Given the description of an element on the screen output the (x, y) to click on. 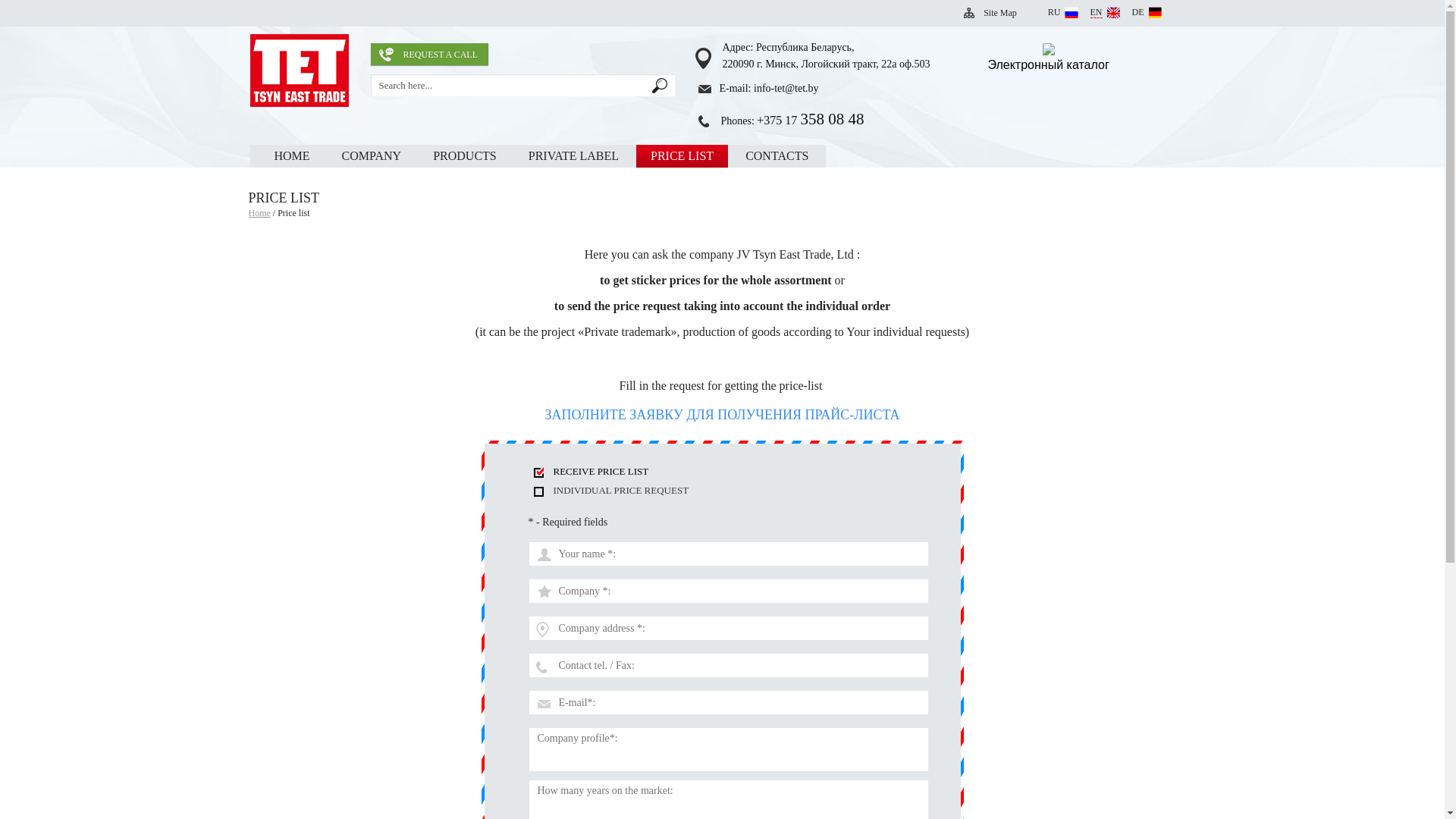
CONTACTS Element type: text (776, 155)
PRIVATE LABEL Element type: text (573, 155)
info-tet@tet.by Element type: text (786, 88)
HOME Element type: text (291, 155)
Site Map Element type: text (999, 12)
DE Element type: text (1146, 12)
Home Element type: text (259, 212)
COMPANY Element type: text (371, 155)
PRICE LIST Element type: text (682, 155)
EN Element type: text (1105, 12)
RU Element type: text (1063, 12)
PRODUCTS Element type: text (464, 155)
Go! Element type: text (659, 85)
